Given the description of an element on the screen output the (x, y) to click on. 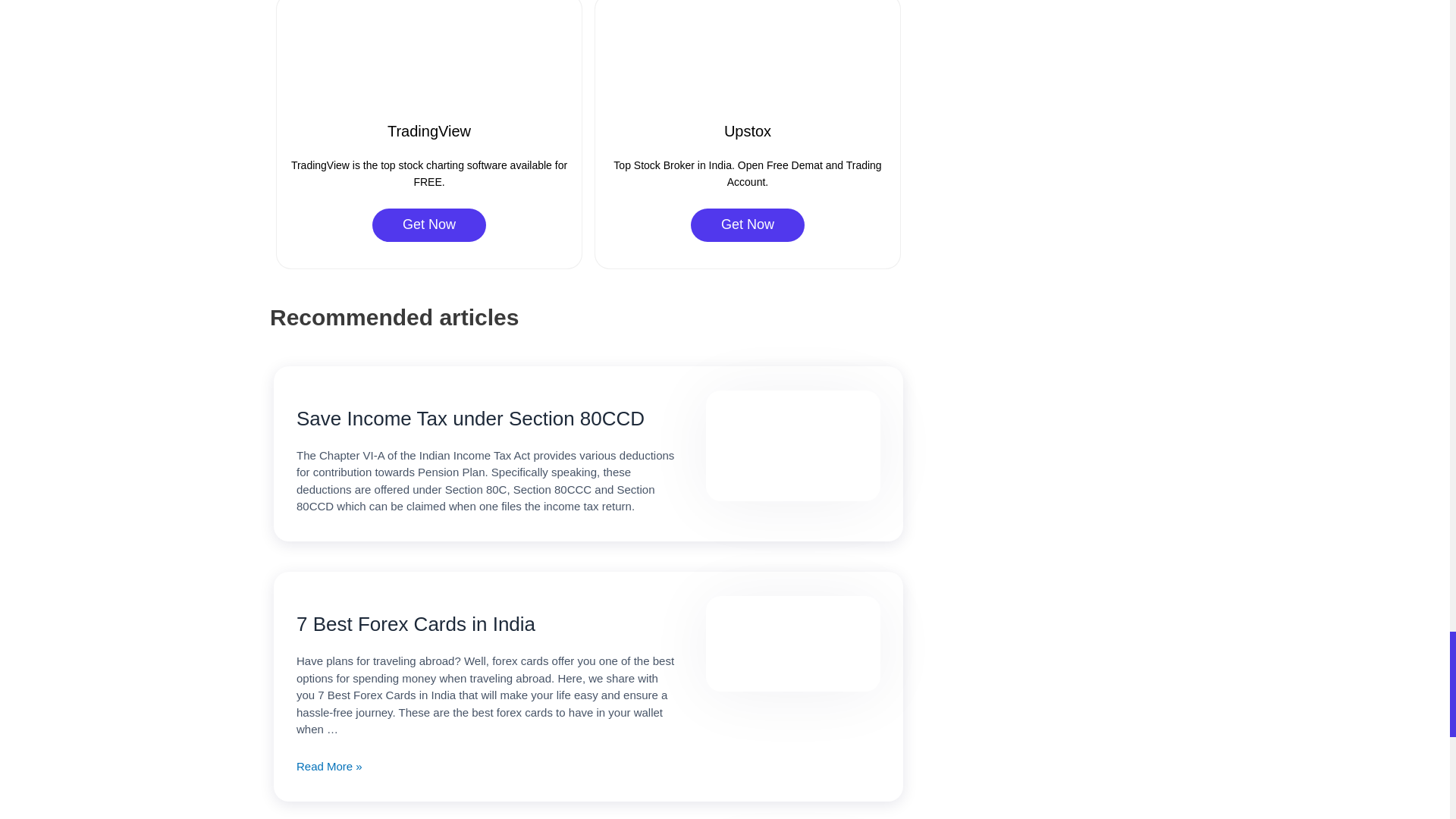
Save Income Tax under Section 80CCD (486, 418)
Get Now (747, 224)
Get Now (429, 224)
